Given the description of an element on the screen output the (x, y) to click on. 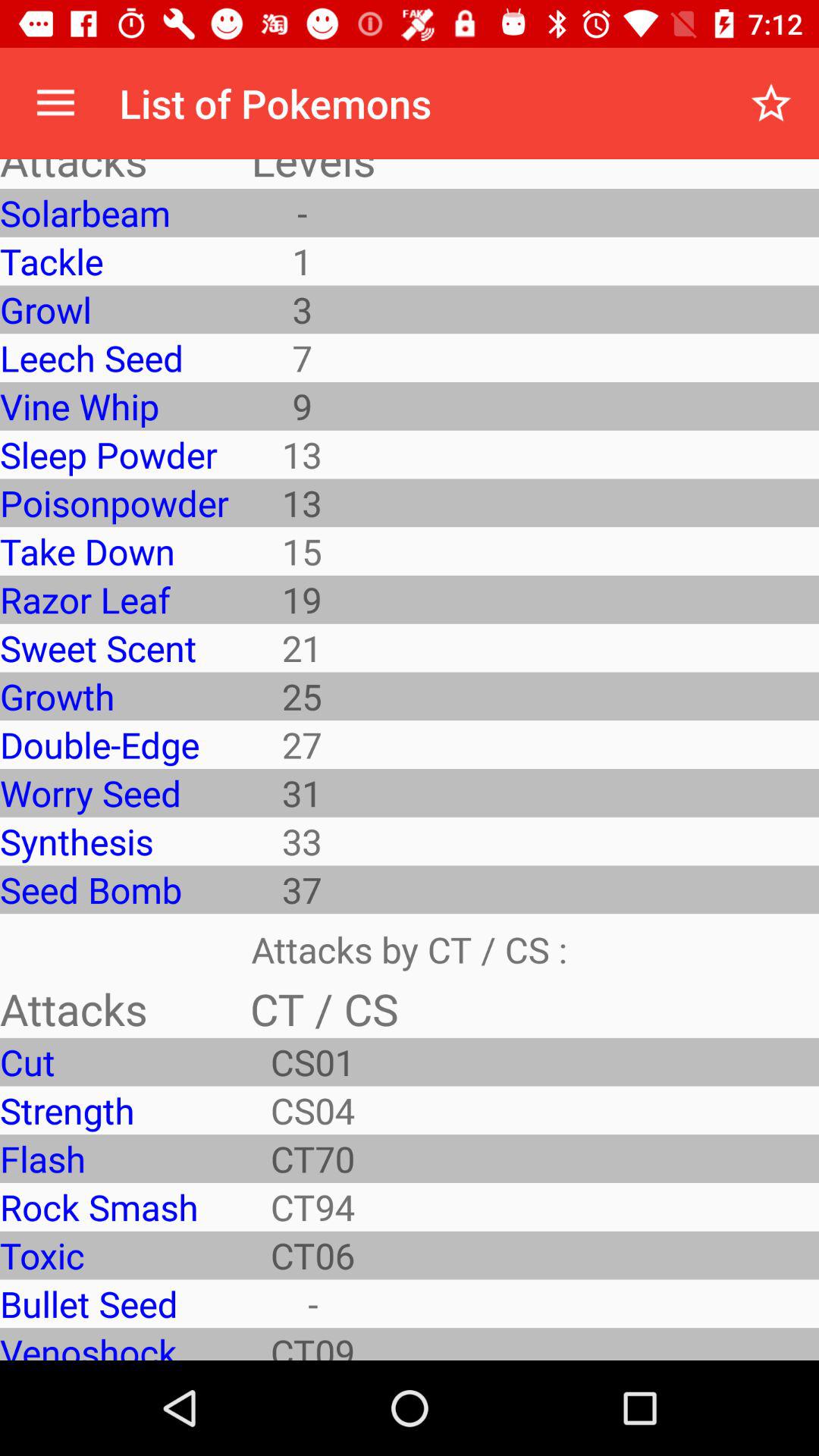
select the icon above the worry seed app (114, 744)
